Given the description of an element on the screen output the (x, y) to click on. 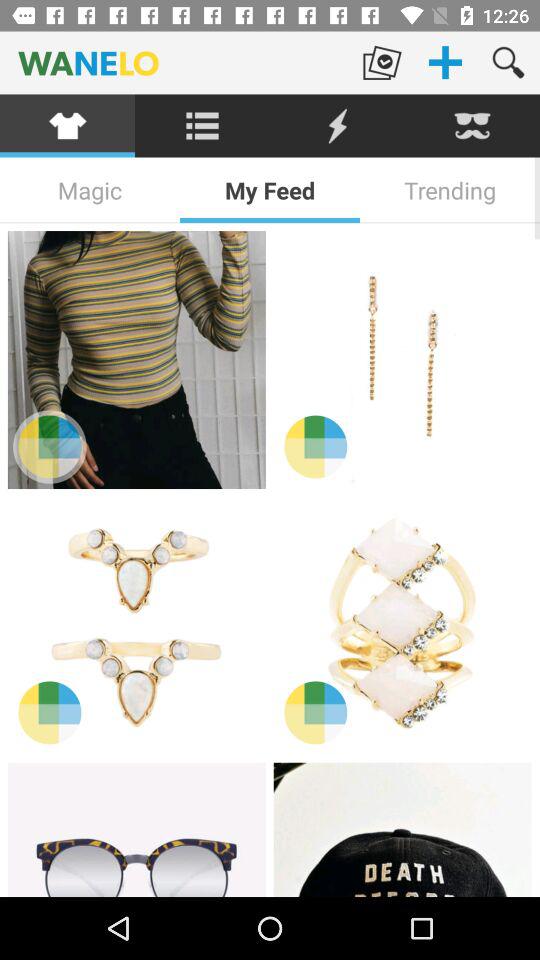
view sweater (136, 360)
